Given the description of an element on the screen output the (x, y) to click on. 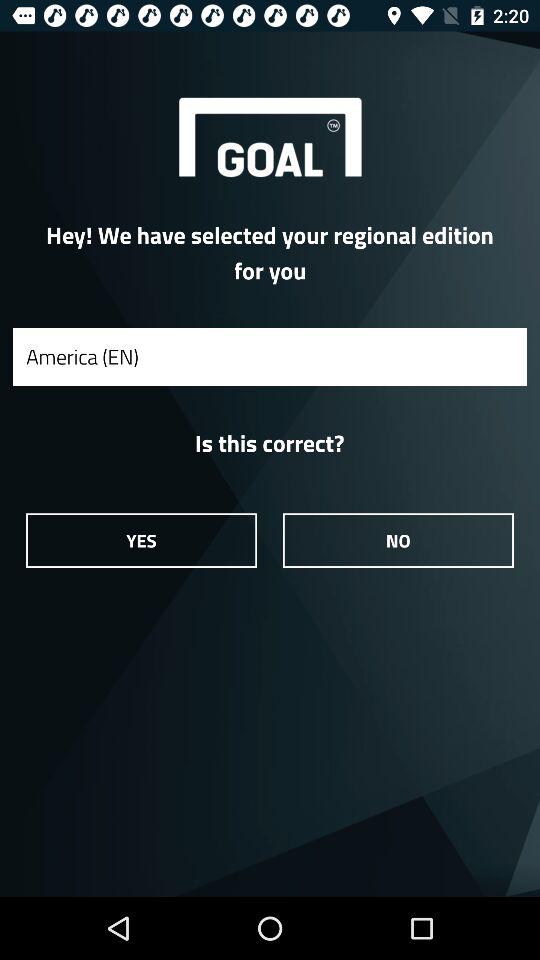
jump to the hey we have item (269, 252)
